Given the description of an element on the screen output the (x, y) to click on. 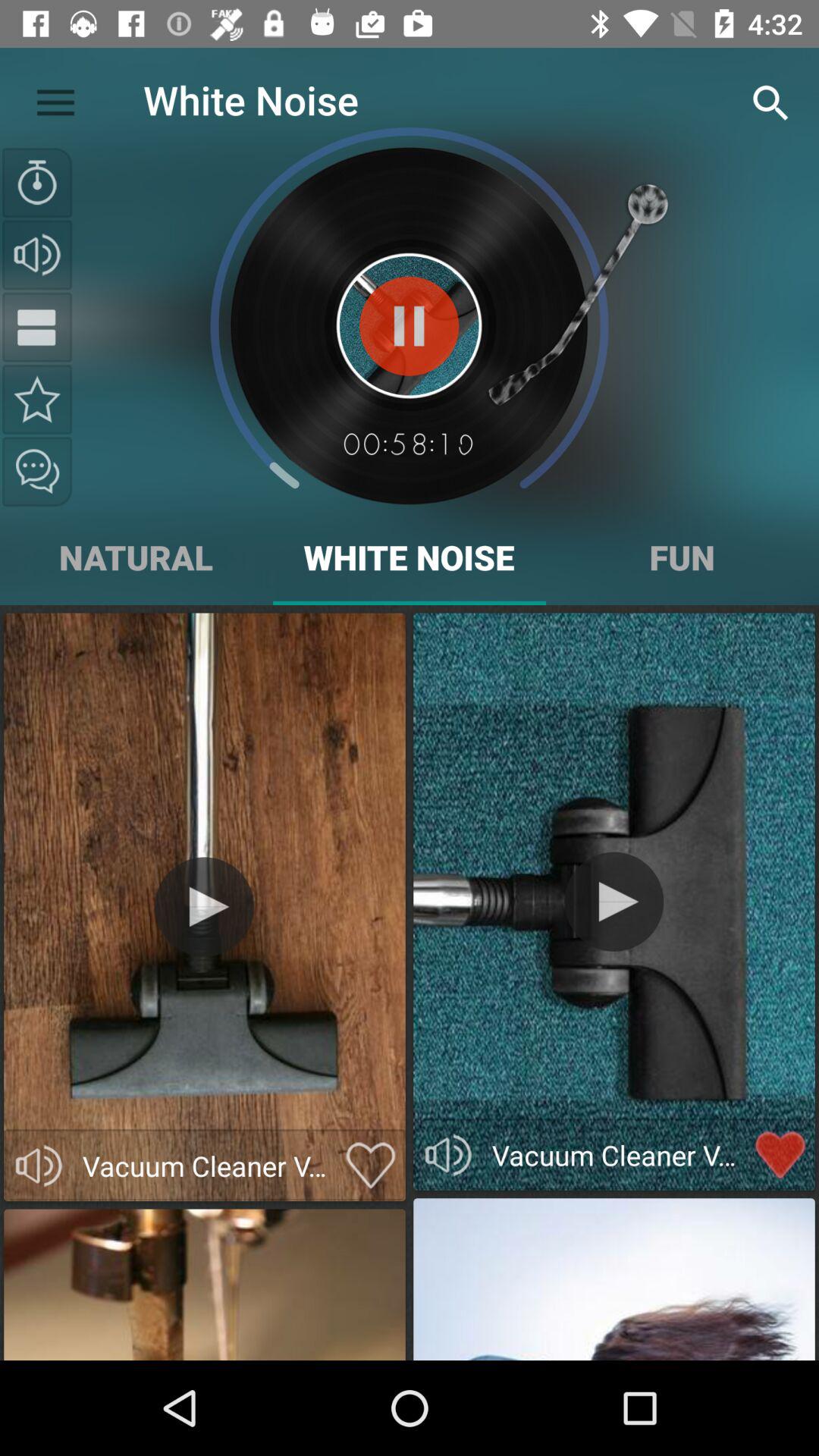
toggle volume (38, 1166)
